Given the description of an element on the screen output the (x, y) to click on. 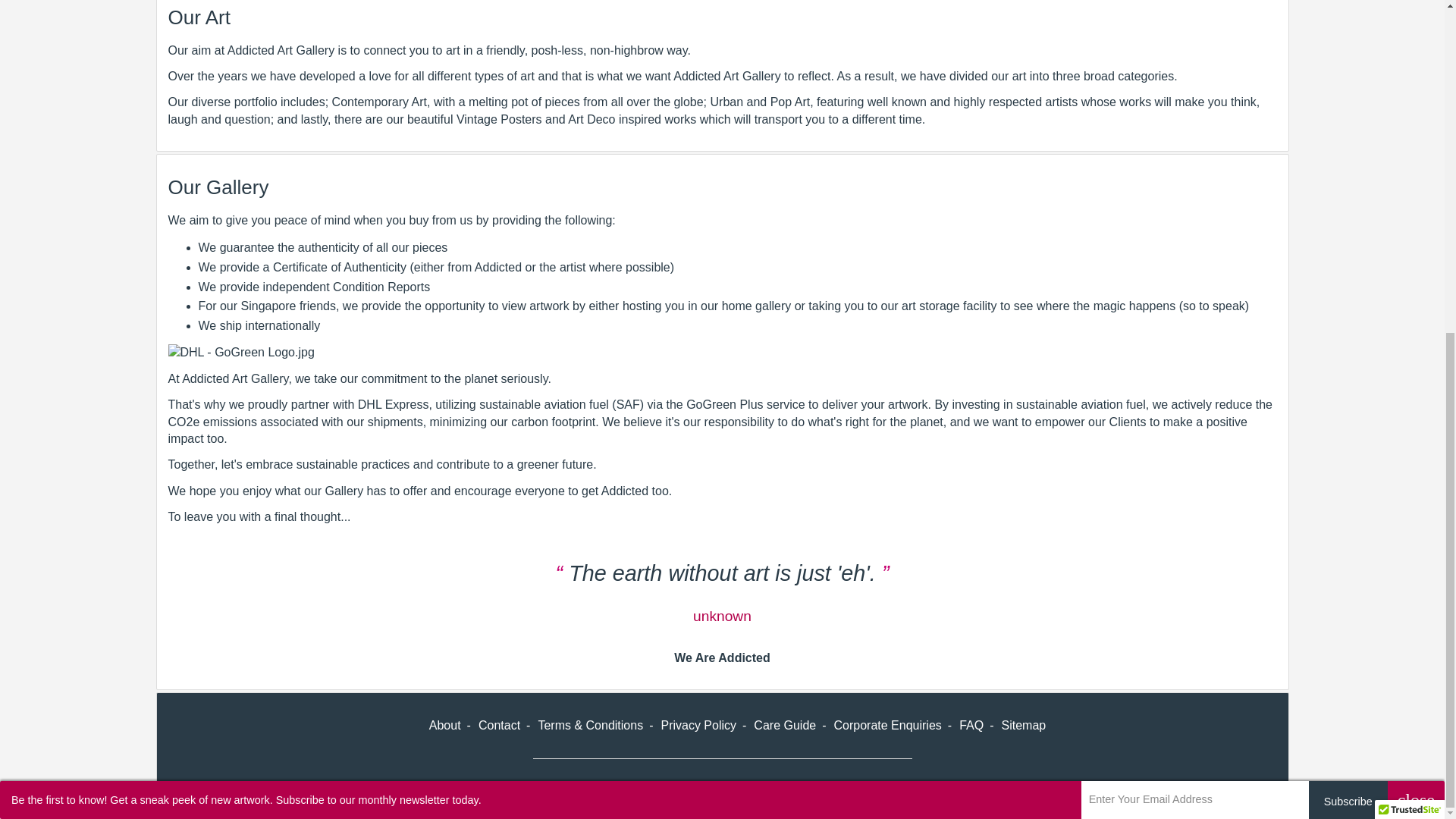
FAQ (971, 725)
Subscribe (1347, 245)
Corporate Enquiries (888, 725)
Privacy Policy (698, 725)
Subscribe (1347, 245)
About (445, 725)
Sitemap (1023, 725)
Contact (499, 725)
Care Guide (784, 725)
